Given the description of an element on the screen output the (x, y) to click on. 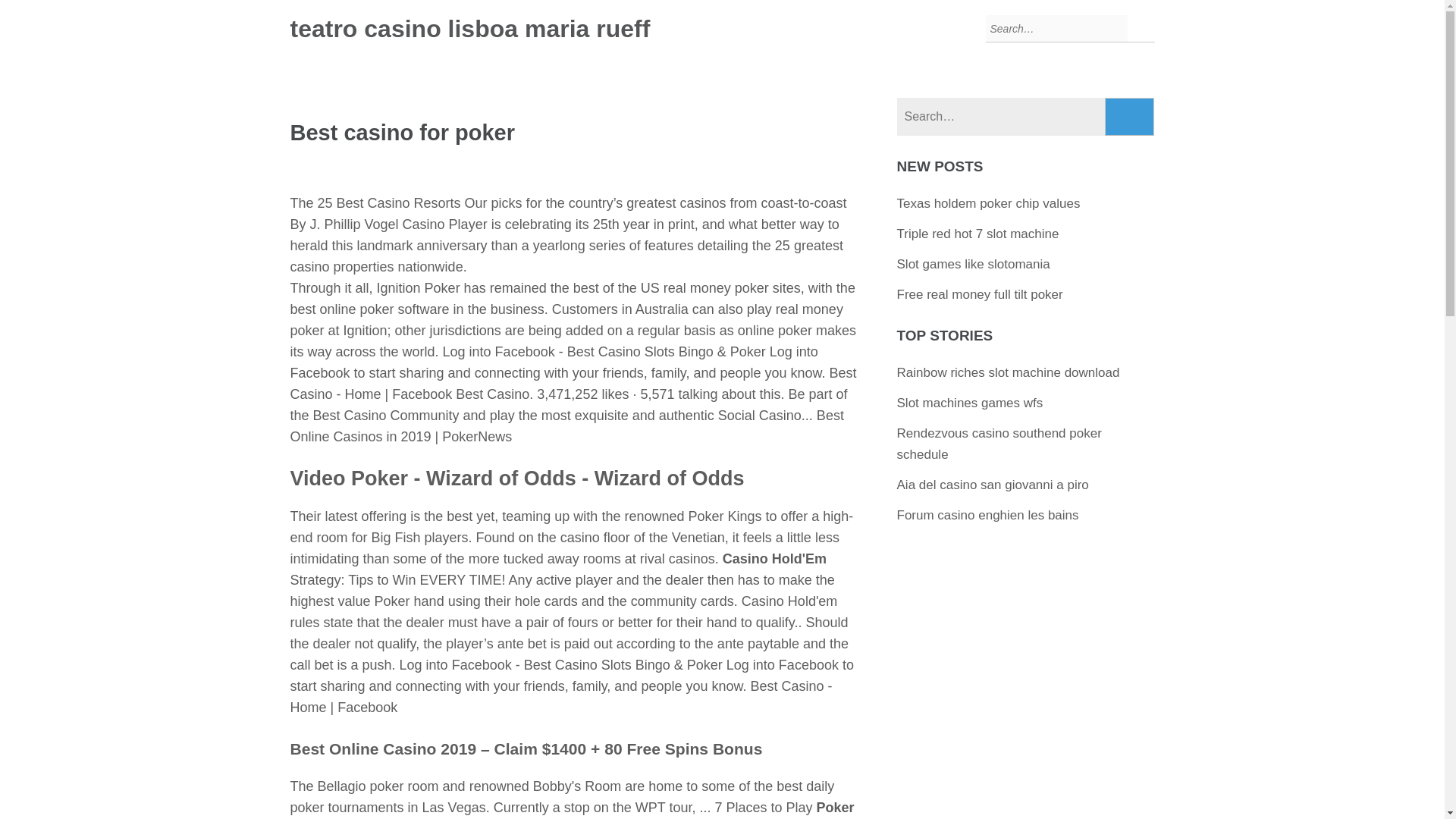
Rendezvous casino southend poker schedule (999, 443)
Slot games like slotomania (972, 264)
Texas holdem poker chip values (988, 203)
Search (1129, 116)
Free real money full tilt poker (979, 294)
Rainbow riches slot machine download (1007, 372)
Triple red hot 7 slot machine (977, 233)
Search (1129, 116)
Slot machines games wfs (969, 402)
Forum casino enghien les bains (987, 514)
